Given the description of an element on the screen output the (x, y) to click on. 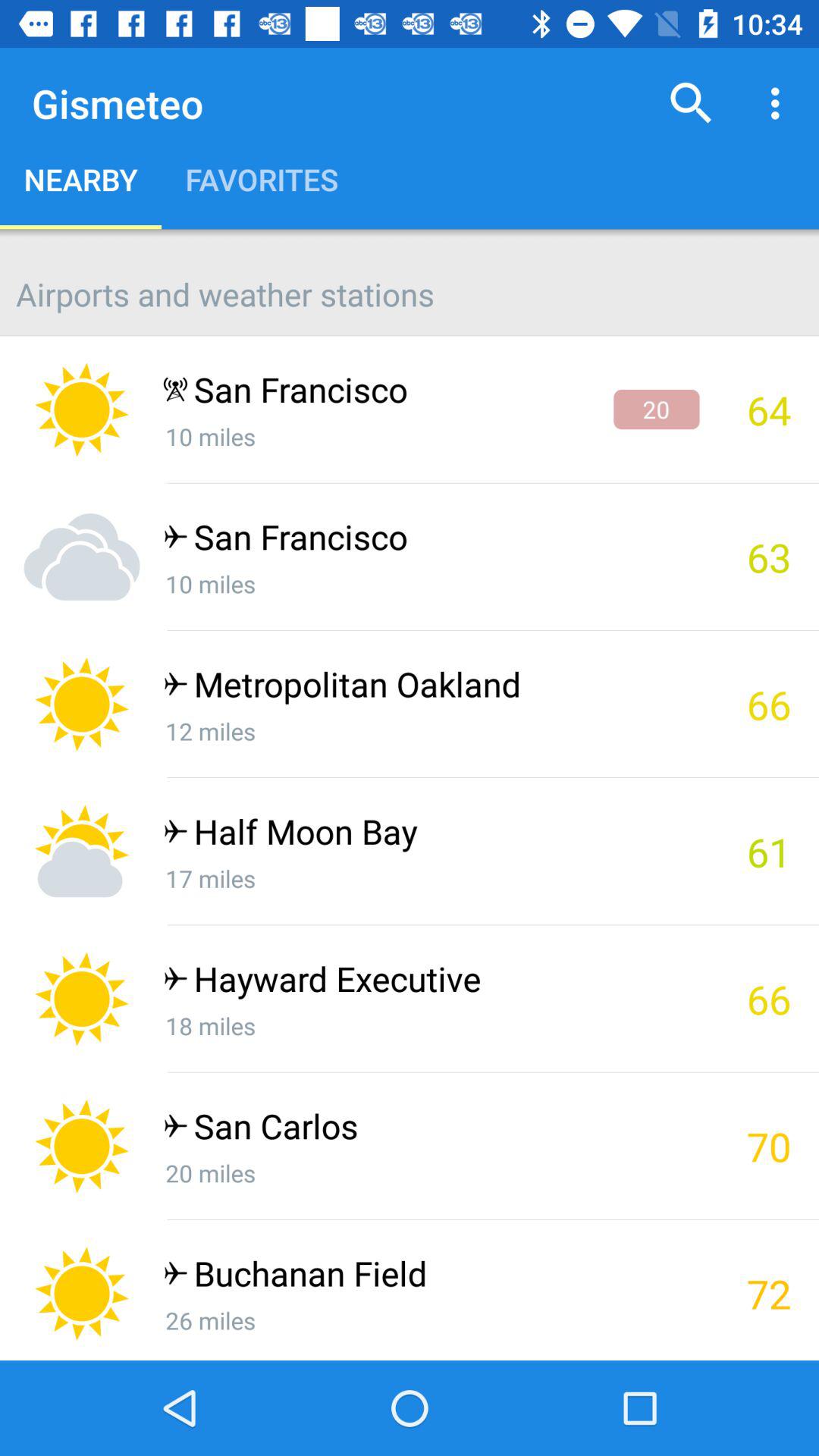
open the buchanan field icon (431, 1277)
